Given the description of an element on the screen output the (x, y) to click on. 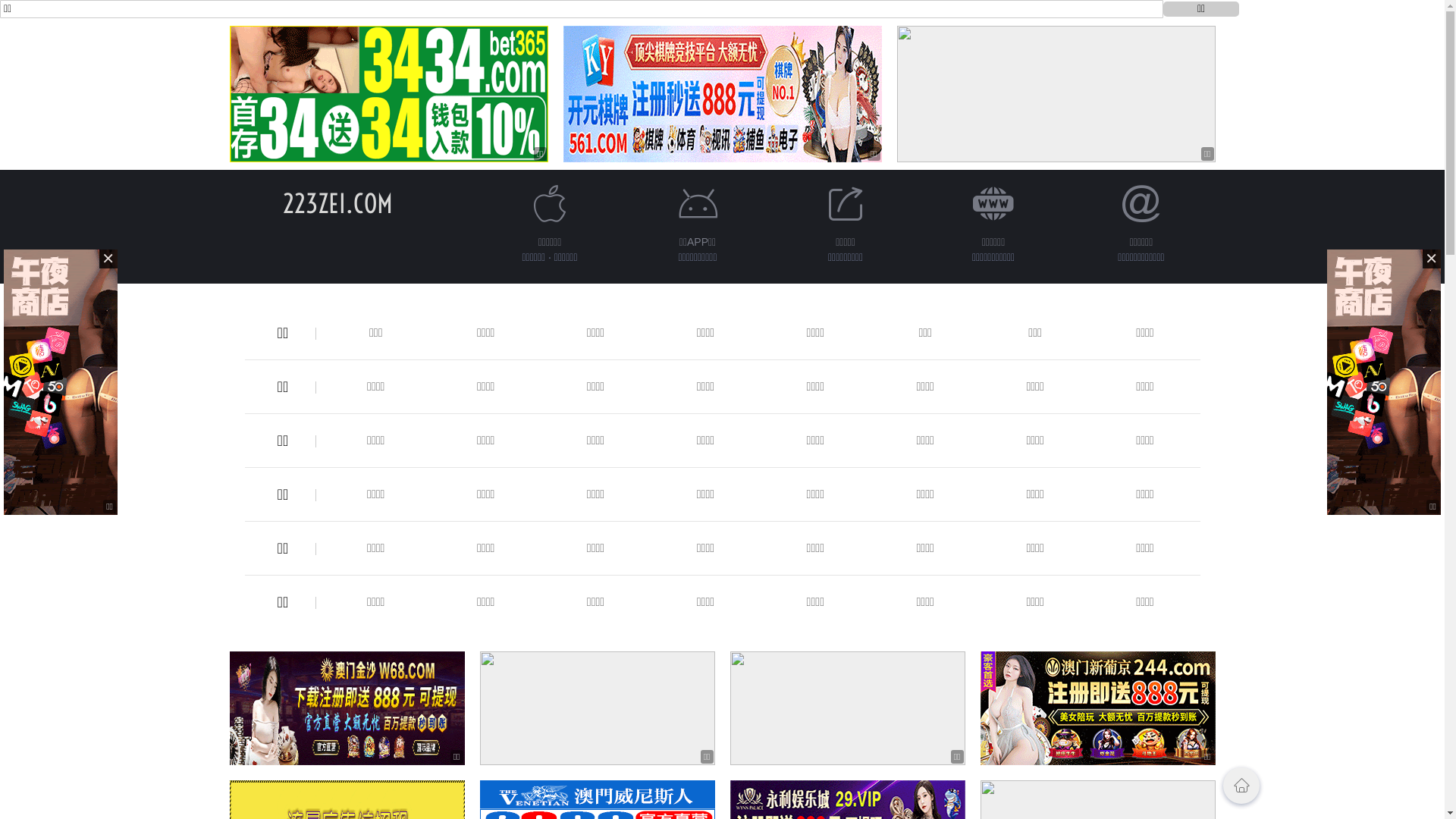
223ZEI.COM Element type: text (337, 203)
